Given the description of an element on the screen output the (x, y) to click on. 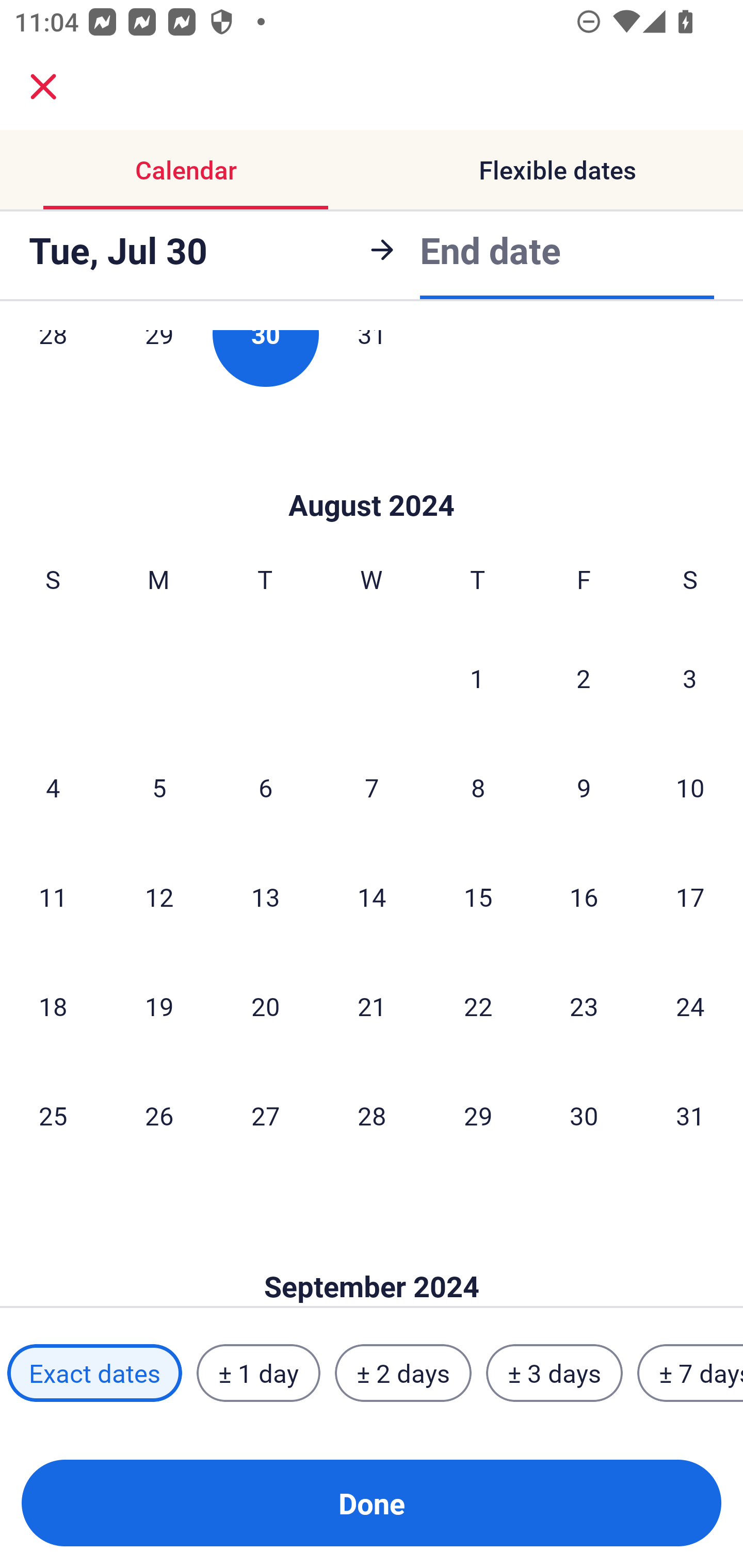
close. (43, 86)
Flexible dates (557, 170)
End date (489, 249)
Skip to Done (371, 474)
1 Thursday, August 1, 2024 (477, 677)
2 Friday, August 2, 2024 (583, 677)
3 Saturday, August 3, 2024 (689, 677)
4 Sunday, August 4, 2024 (53, 786)
5 Monday, August 5, 2024 (159, 786)
6 Tuesday, August 6, 2024 (265, 786)
7 Wednesday, August 7, 2024 (371, 786)
8 Thursday, August 8, 2024 (477, 786)
9 Friday, August 9, 2024 (584, 786)
10 Saturday, August 10, 2024 (690, 786)
11 Sunday, August 11, 2024 (53, 896)
12 Monday, August 12, 2024 (159, 896)
13 Tuesday, August 13, 2024 (265, 896)
14 Wednesday, August 14, 2024 (371, 896)
15 Thursday, August 15, 2024 (477, 896)
16 Friday, August 16, 2024 (584, 896)
17 Saturday, August 17, 2024 (690, 896)
18 Sunday, August 18, 2024 (53, 1005)
19 Monday, August 19, 2024 (159, 1005)
20 Tuesday, August 20, 2024 (265, 1005)
21 Wednesday, August 21, 2024 (371, 1005)
22 Thursday, August 22, 2024 (477, 1005)
23 Friday, August 23, 2024 (584, 1005)
24 Saturday, August 24, 2024 (690, 1005)
25 Sunday, August 25, 2024 (53, 1115)
26 Monday, August 26, 2024 (159, 1115)
27 Tuesday, August 27, 2024 (265, 1115)
28 Wednesday, August 28, 2024 (371, 1115)
29 Thursday, August 29, 2024 (477, 1115)
30 Friday, August 30, 2024 (584, 1115)
31 Saturday, August 31, 2024 (690, 1115)
Skip to Done (371, 1255)
Exact dates (94, 1372)
± 1 day (258, 1372)
± 2 days (403, 1372)
± 3 days (553, 1372)
± 7 days (690, 1372)
Done (371, 1502)
